Given the description of an element on the screen output the (x, y) to click on. 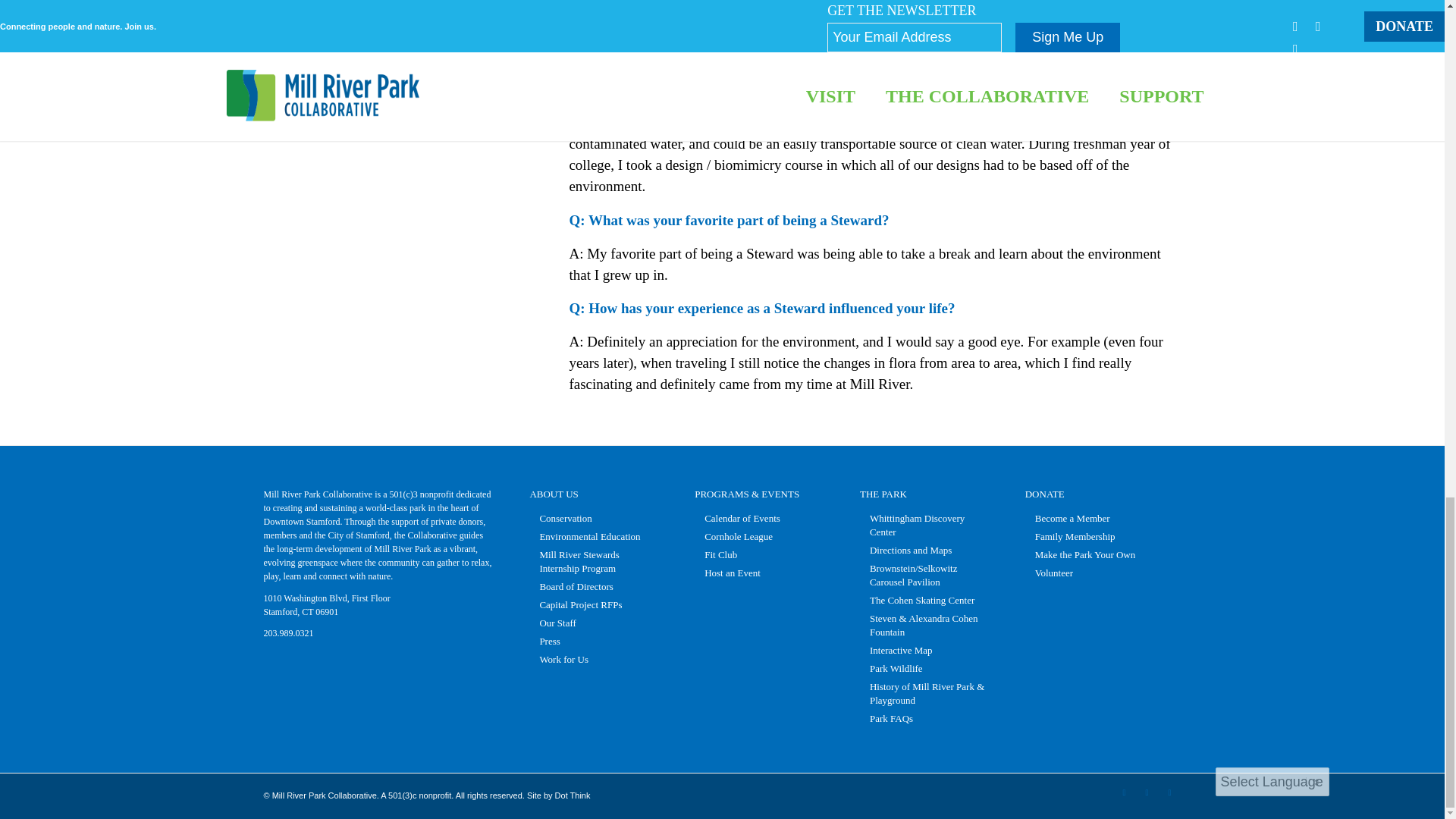
Facebook (1124, 792)
Twitter (1146, 792)
onethird (410, 40)
Instagram (1169, 792)
